Given the description of an element on the screen output the (x, y) to click on. 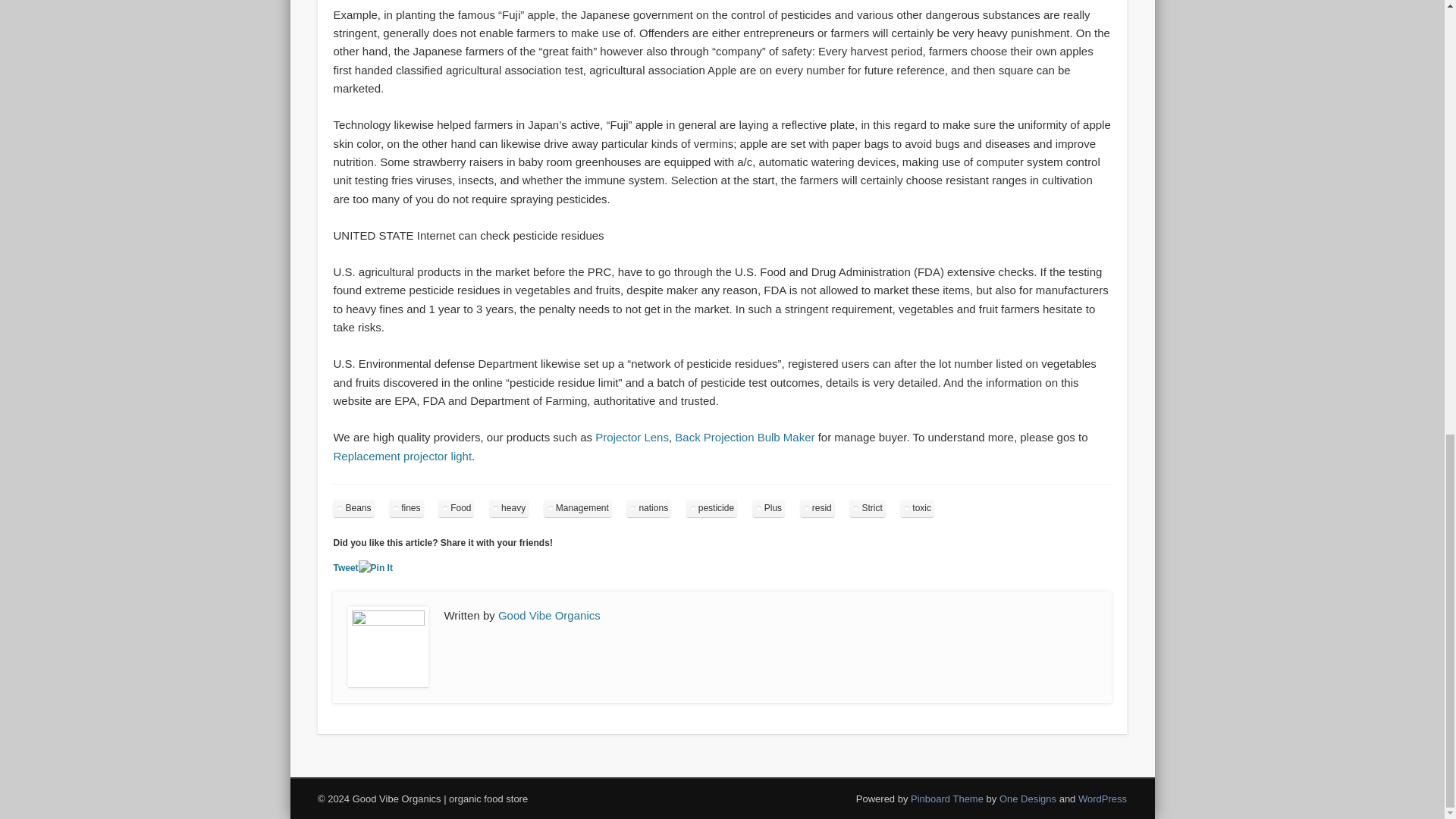
toxic (916, 507)
fines (405, 507)
Replacement projector light (402, 455)
Strict (866, 507)
nations (648, 507)
Posts by Good Vibe Organics (548, 615)
heavy (508, 507)
pesticide (710, 507)
Projector Lens (631, 436)
One Designs (1027, 798)
Beans (353, 507)
Pinboard Theme (947, 798)
Tweet (345, 567)
Back Projection Bulb Maker (744, 436)
Pin It (375, 568)
